Given the description of an element on the screen output the (x, y) to click on. 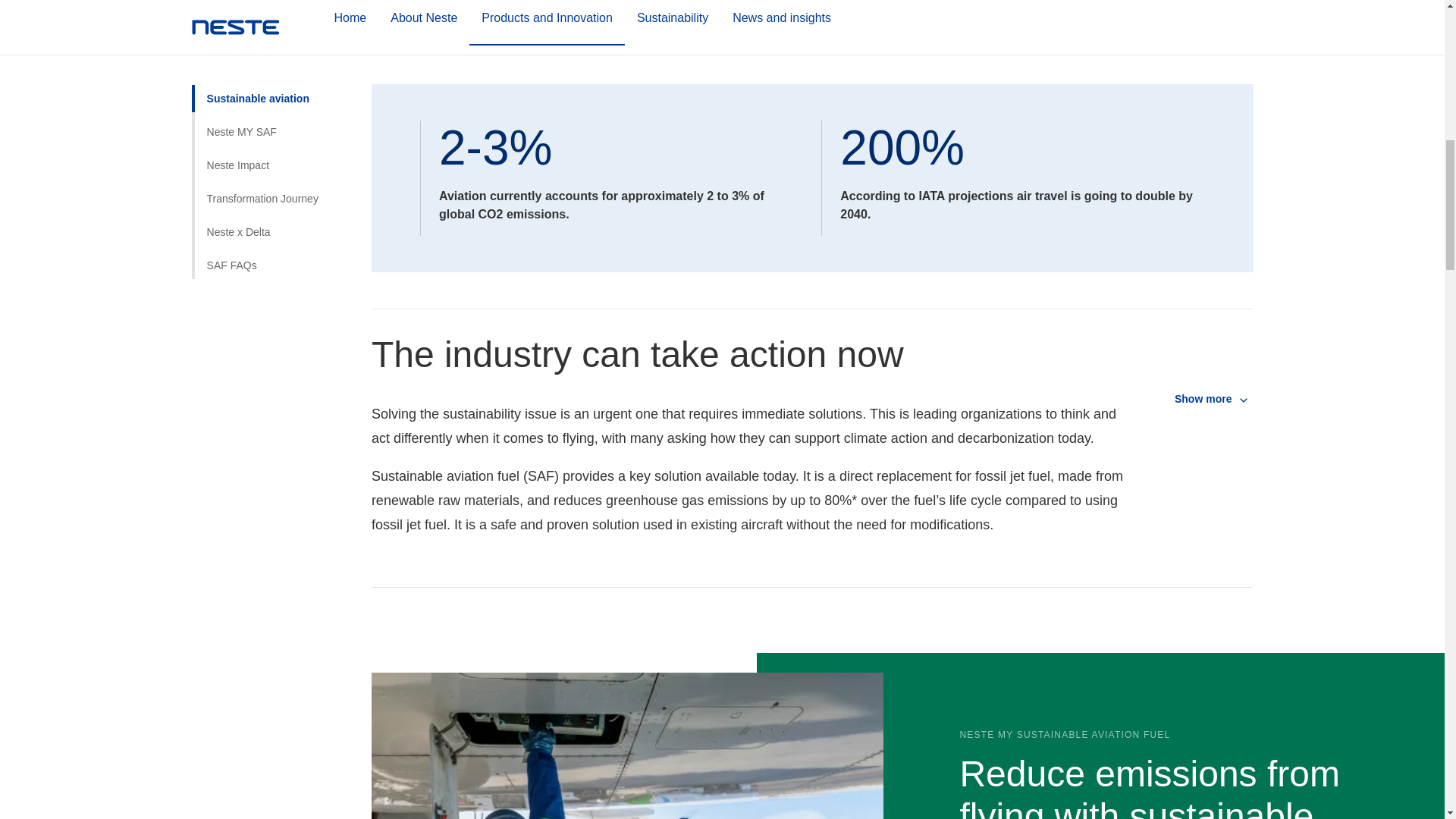
Neste MY SAF (272, 13)
Transformation Journey (272, 79)
SAF FAQs (272, 145)
Neste x Delta (272, 112)
Show more (1206, 398)
Transformation Journey (272, 79)
Show more (1206, 398)
SAF FAQs (272, 145)
Neste Impact (272, 45)
Neste Impact (272, 45)
Neste MY SAF (272, 13)
Neste x Delta (272, 112)
